Given the description of an element on the screen output the (x, y) to click on. 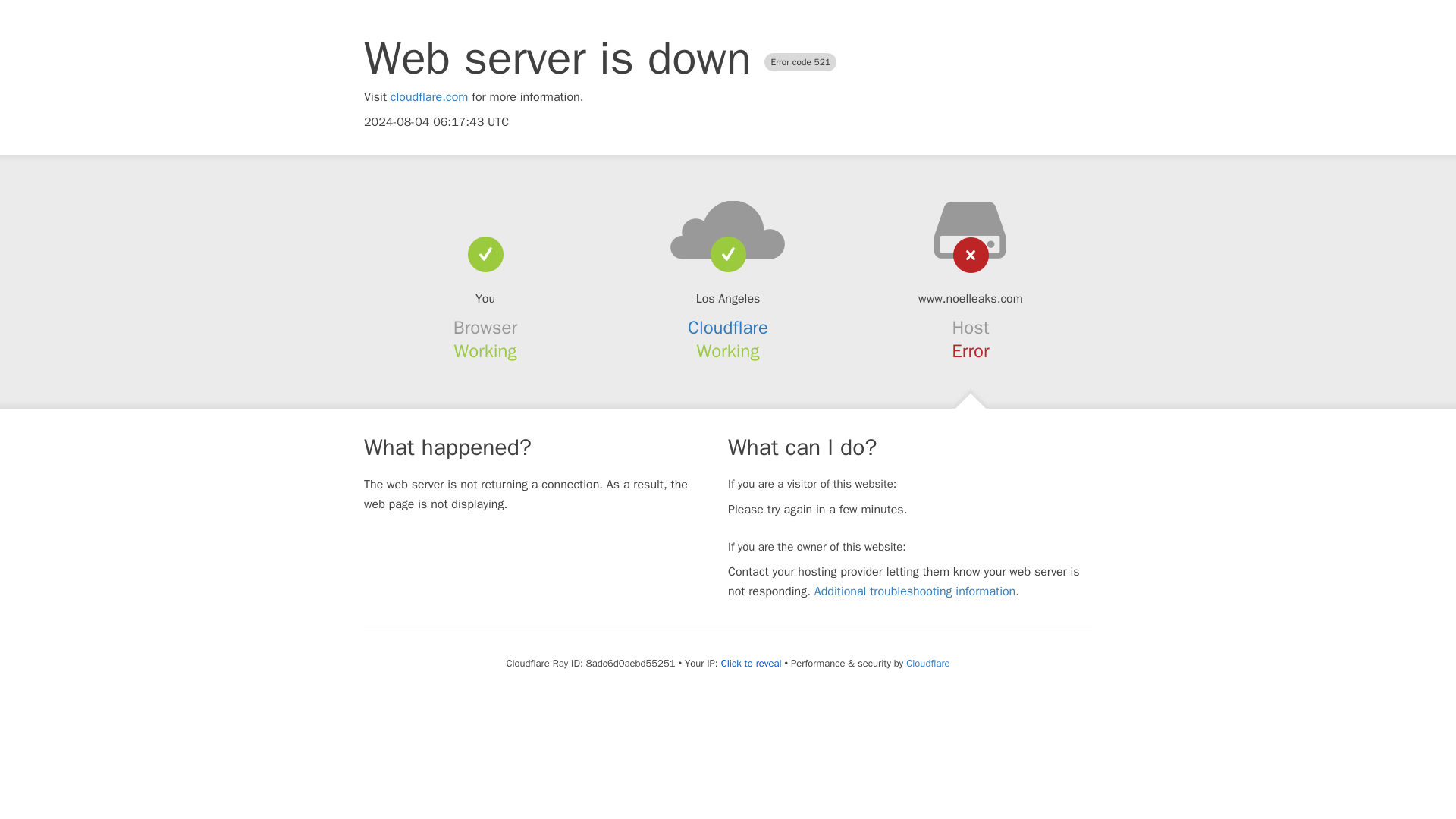
Additional troubleshooting information (913, 590)
Cloudflare (927, 662)
Click to reveal (750, 663)
Cloudflare (727, 327)
cloudflare.com (429, 96)
